Given the description of an element on the screen output the (x, y) to click on. 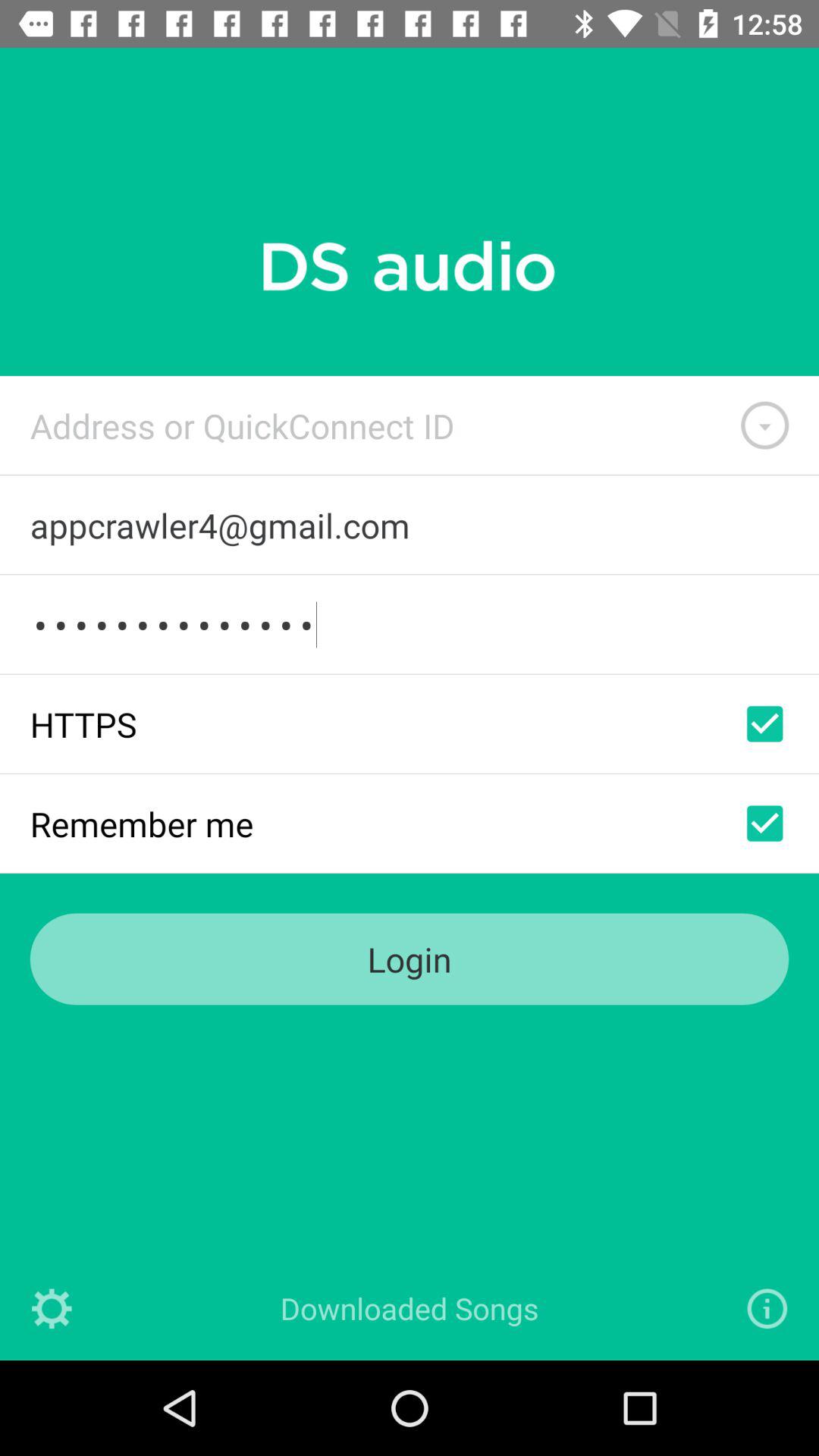
open information (767, 1308)
